Given the description of an element on the screen output the (x, y) to click on. 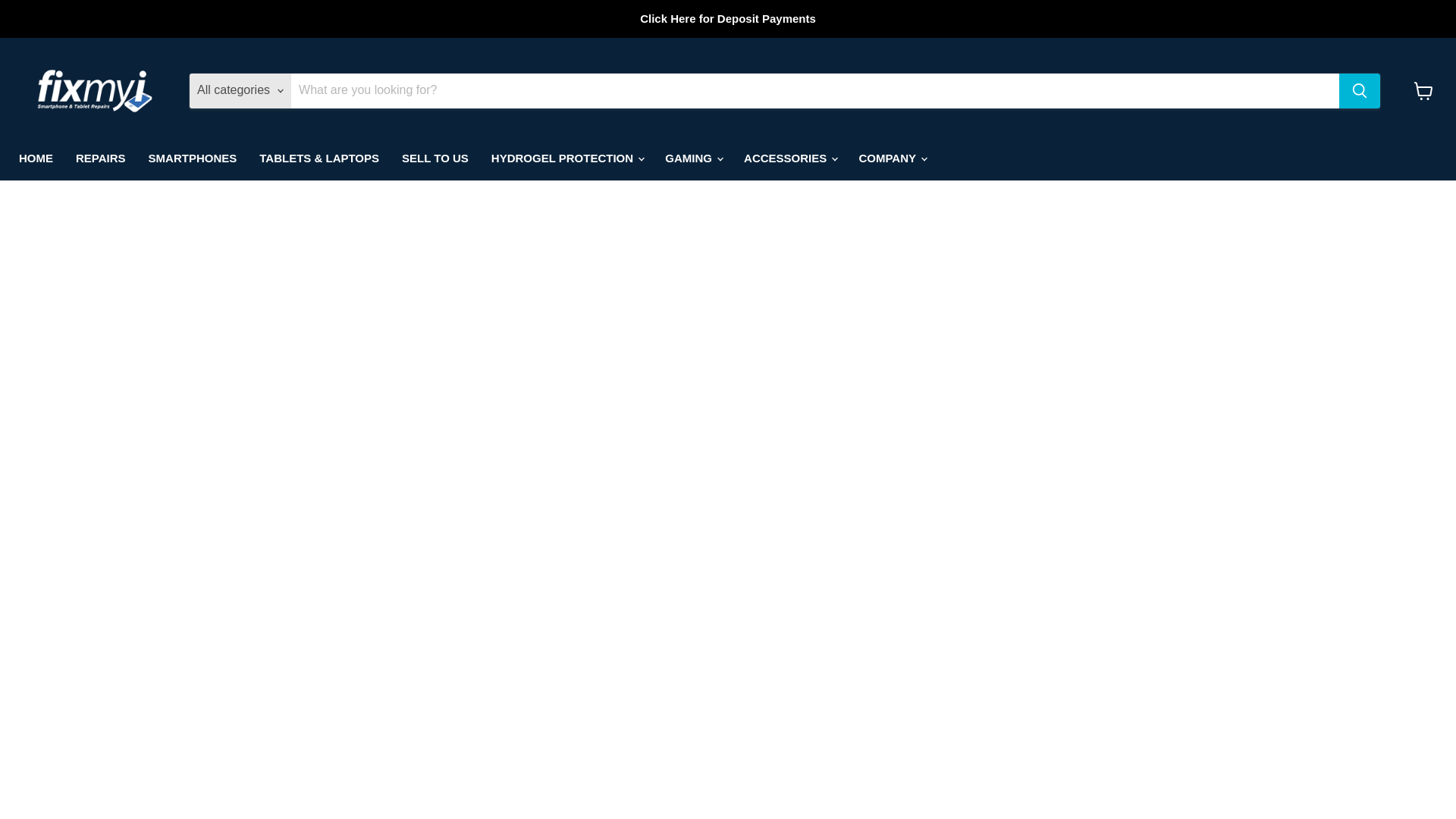
SMARTPHONES (192, 158)
View cart (1423, 90)
SELL TO US (435, 158)
REPAIRS (100, 158)
HOME (35, 158)
